Given the description of an element on the screen output the (x, y) to click on. 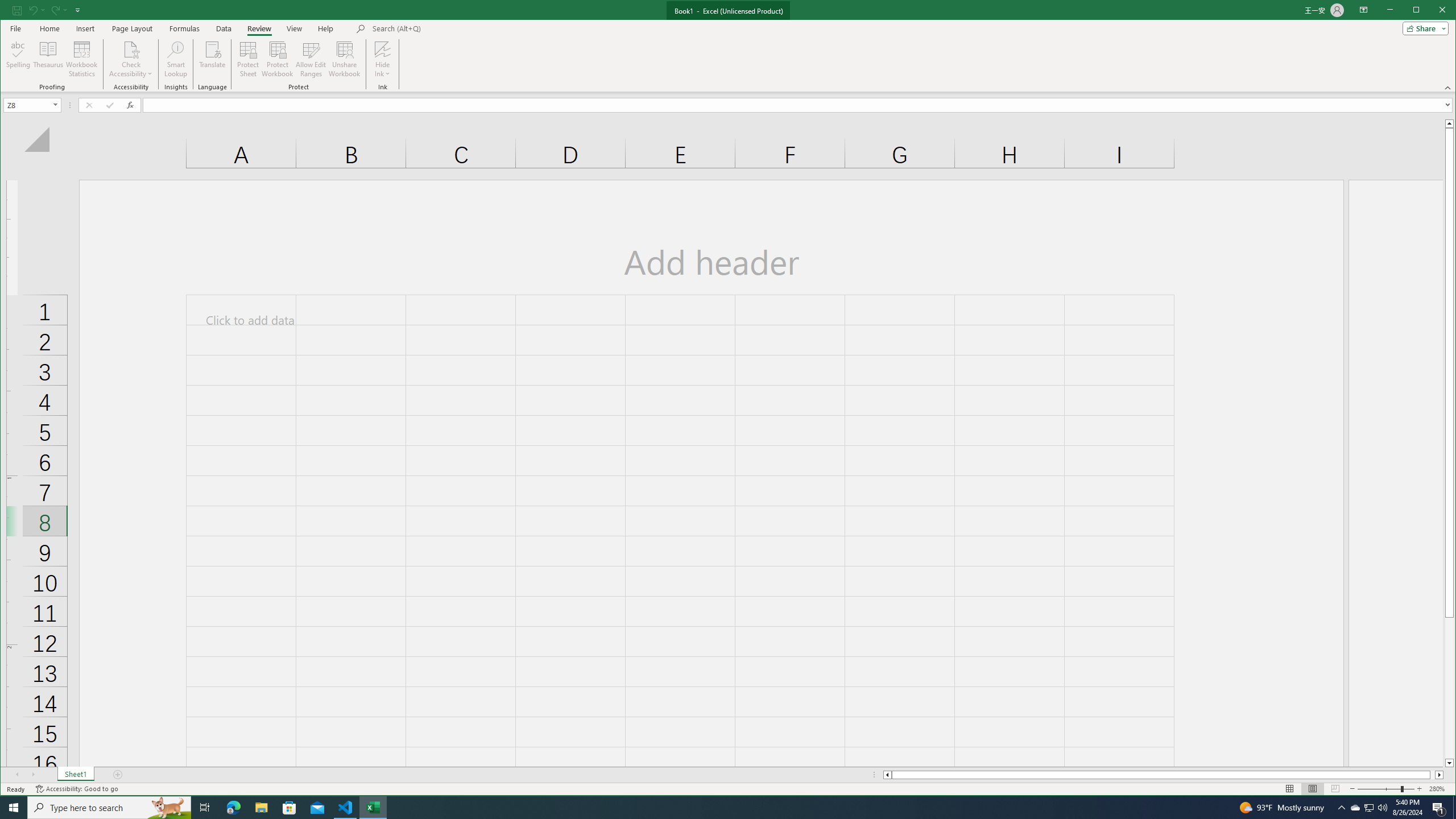
Thesaurus... (48, 59)
